Given the description of an element on the screen output the (x, y) to click on. 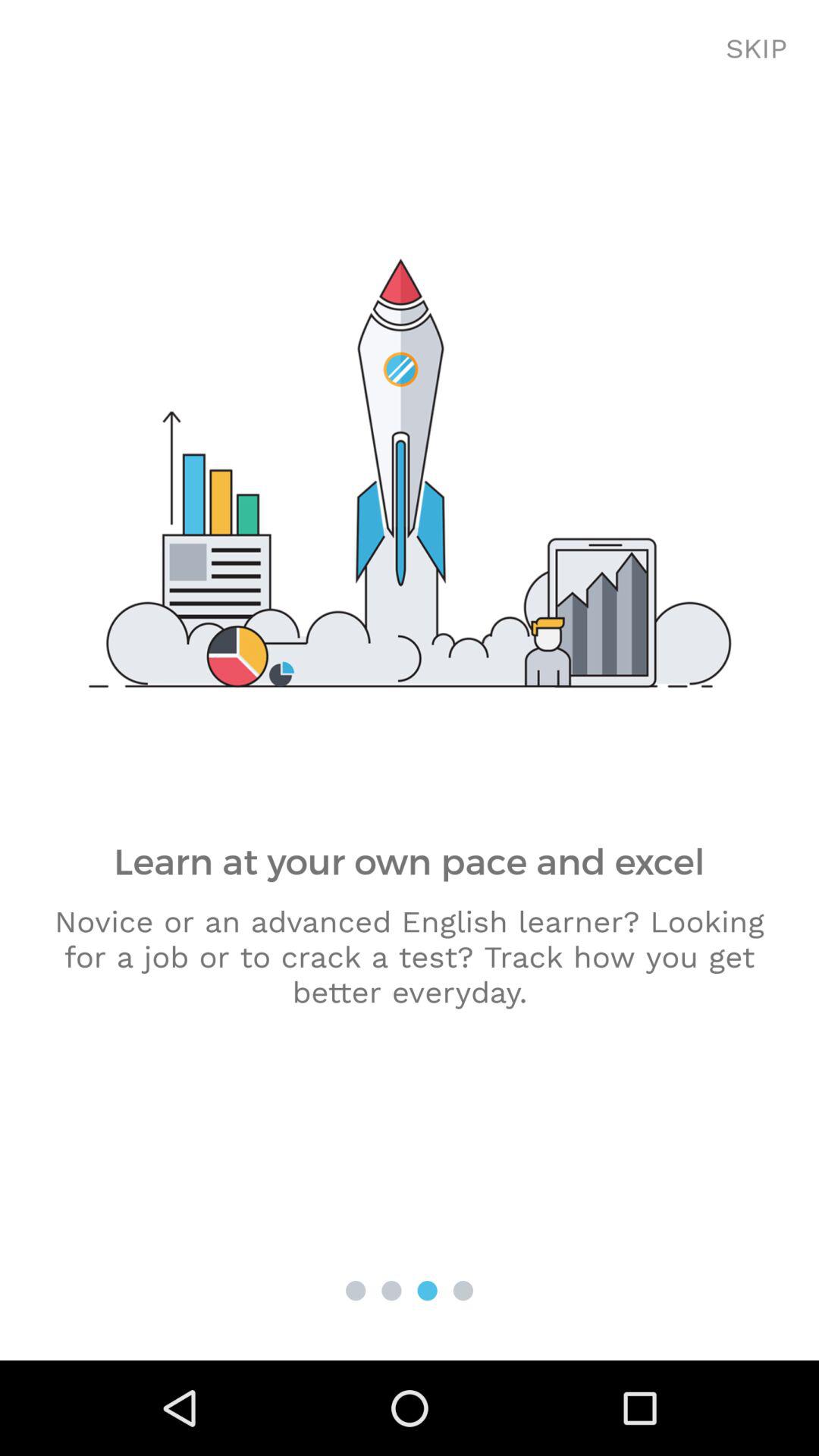
turn off the skip (756, 49)
